Given the description of an element on the screen output the (x, y) to click on. 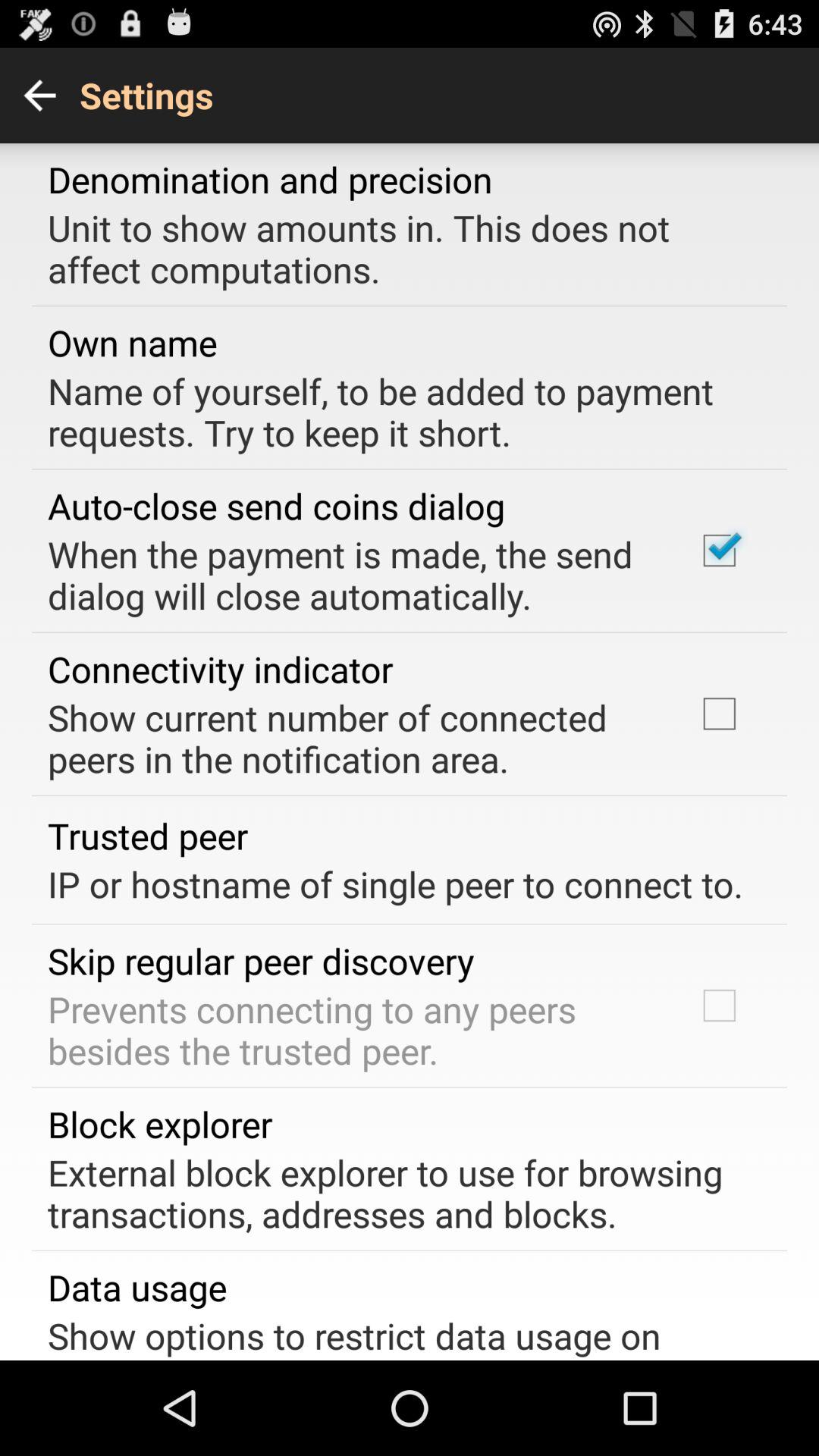
turn on the when the payment (351, 574)
